Given the description of an element on the screen output the (x, y) to click on. 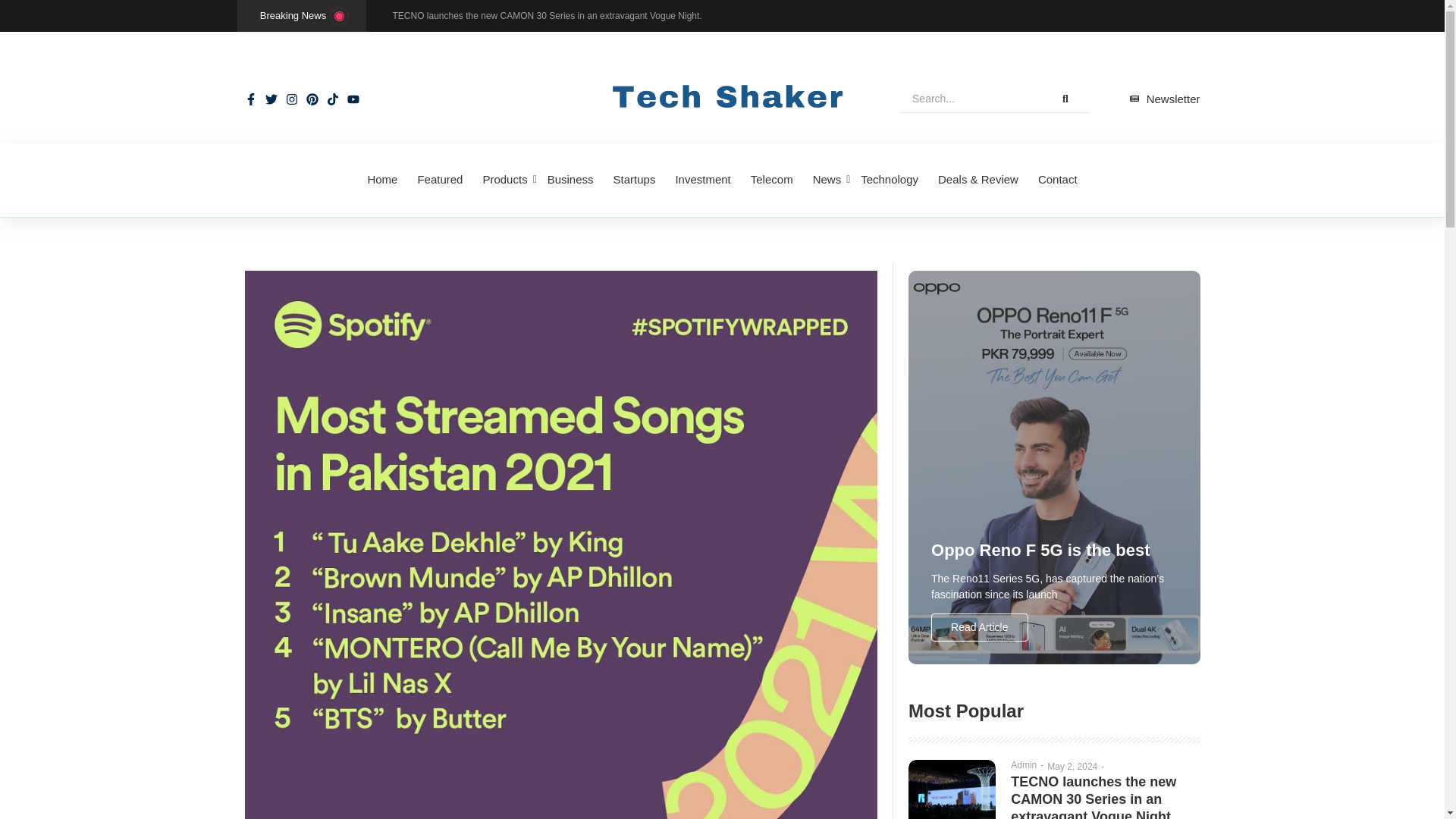
Featured (439, 179)
Home (382, 179)
Search (971, 99)
Newsletter (1164, 99)
Products (504, 179)
